Given the description of an element on the screen output the (x, y) to click on. 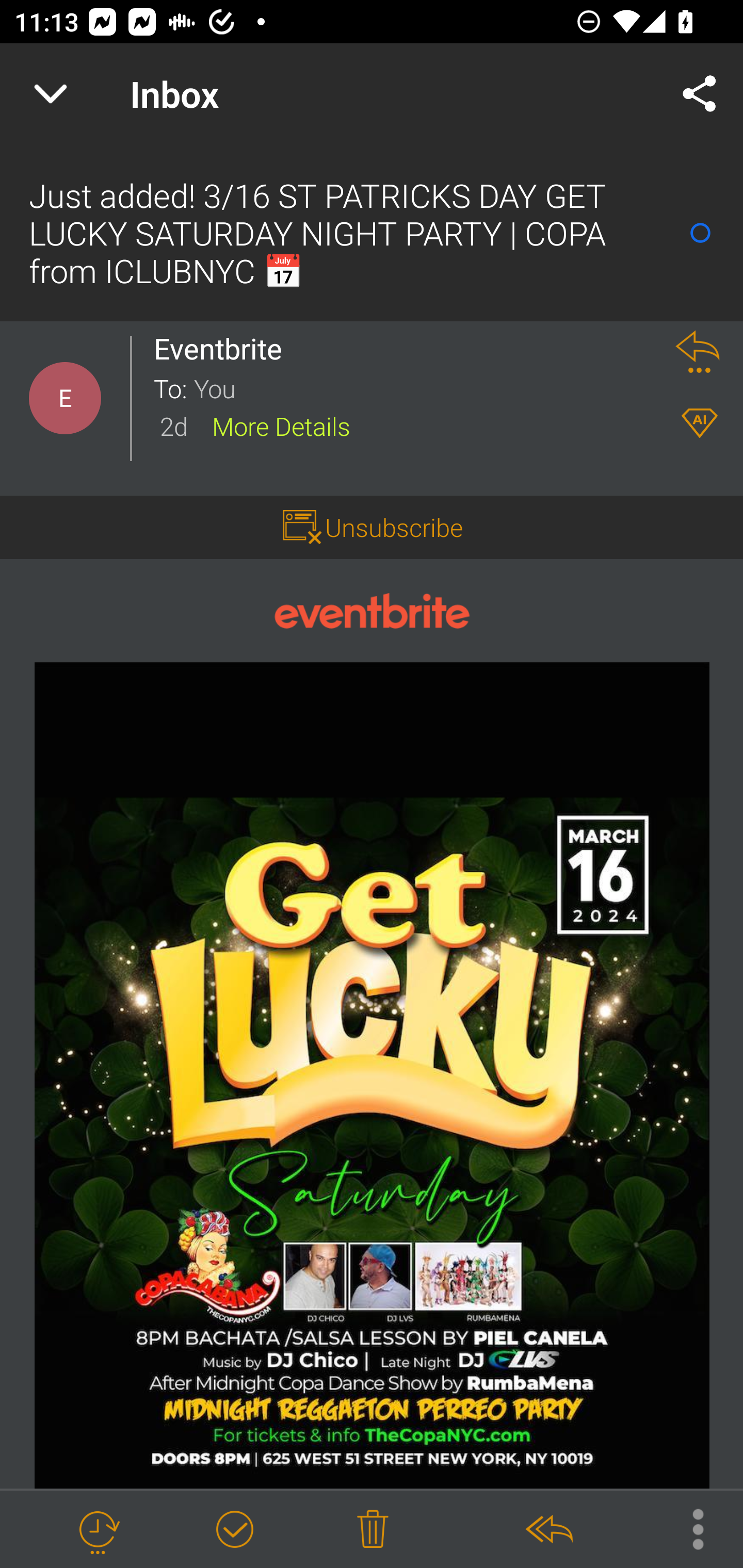
Navigate up (50, 93)
Share (699, 93)
Mark as Read (699, 232)
Eventbrite (222, 348)
Contact Details (64, 398)
You (422, 387)
More Details (280, 424)
Unsubscribe (393, 526)
Eventbrite (371, 611)
More Options (687, 1528)
Snooze (97, 1529)
Mark as Done (234, 1529)
Delete (372, 1529)
Reply All (548, 1529)
